Given the description of an element on the screen output the (x, y) to click on. 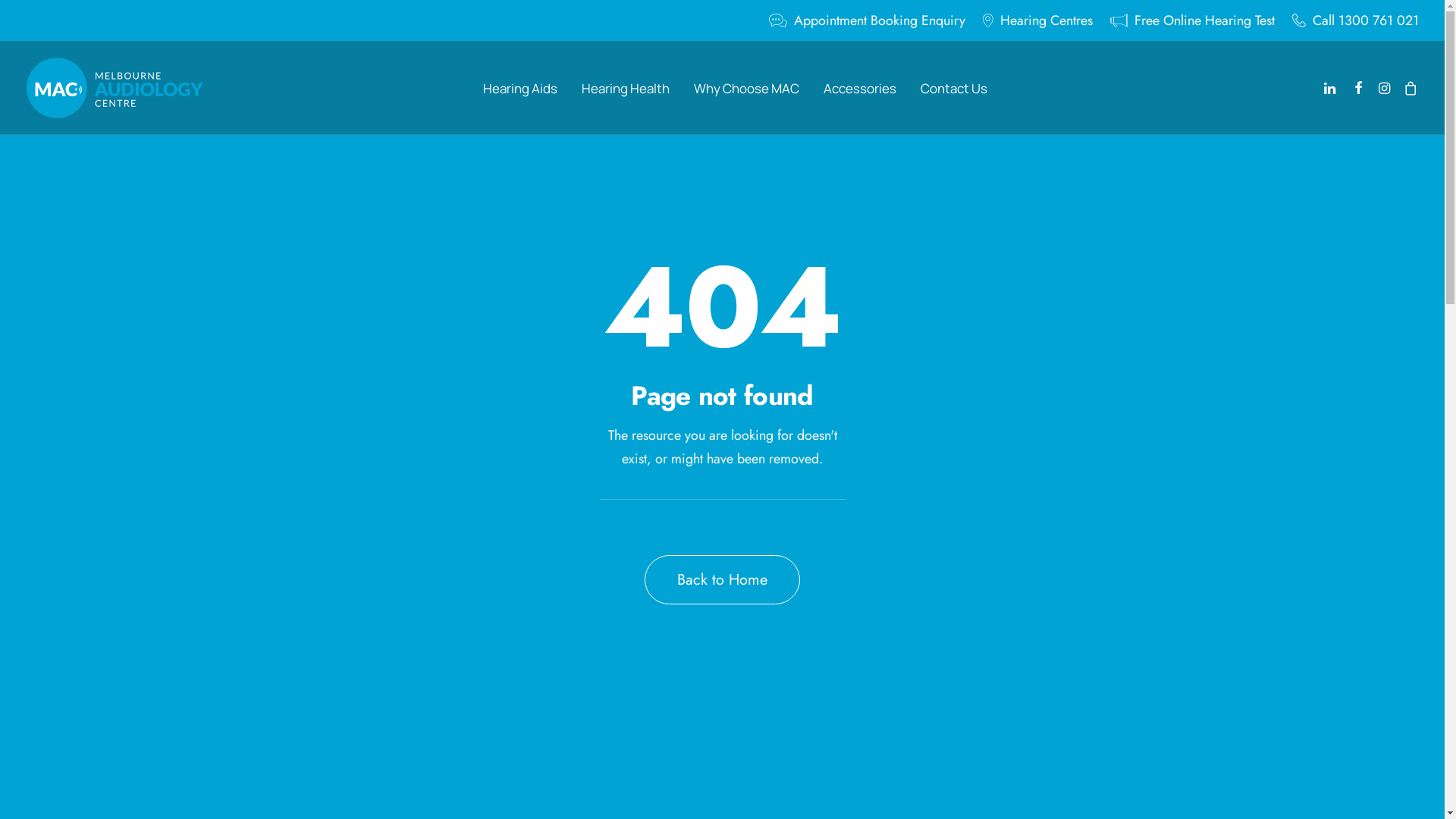
Hearing Aids Element type: text (519, 87)
Hearing Centres Element type: text (1036, 20)
Free Online Hearing Test Element type: text (1191, 20)
Appointment Booking Enquiry Element type: text (870, 20)
Call 1300 761 021 Element type: text (1351, 20)
Hearing Health Element type: text (625, 87)
Accessories Element type: text (859, 87)
Back to Home Element type: text (722, 579)
cart Element type: hover (1407, 87)
Contact Us Element type: text (953, 87)
Why Choose MAC Element type: text (746, 87)
